Given the description of an element on the screen output the (x, y) to click on. 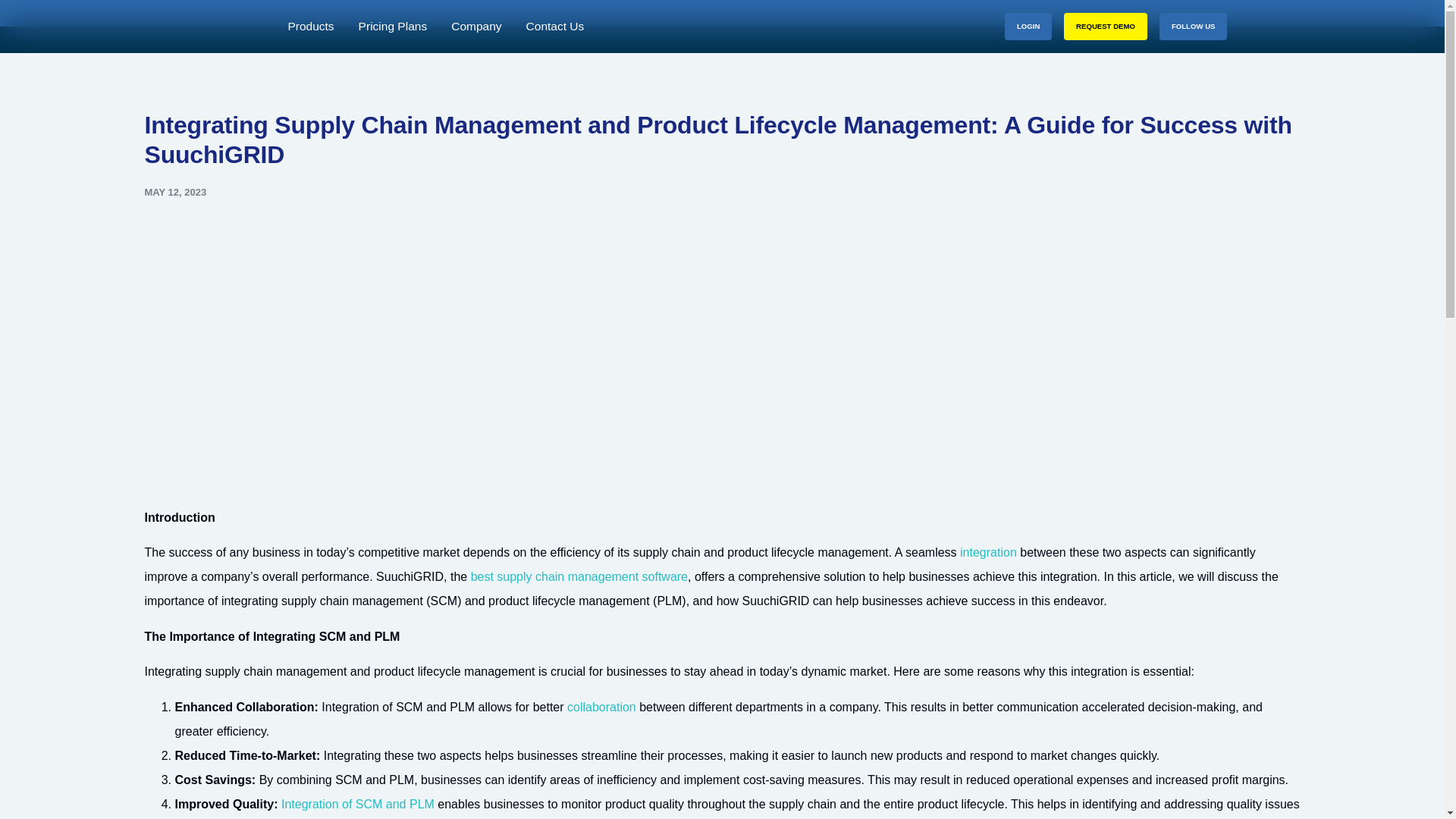
Contact Us (555, 26)
FOLLOW US (1192, 26)
LOGIN (1027, 26)
Products (309, 26)
REQUEST DEMO (1105, 26)
Company (475, 26)
suuchiLogo.png (226, 33)
Pricing Plans (392, 26)
